Given the description of an element on the screen output the (x, y) to click on. 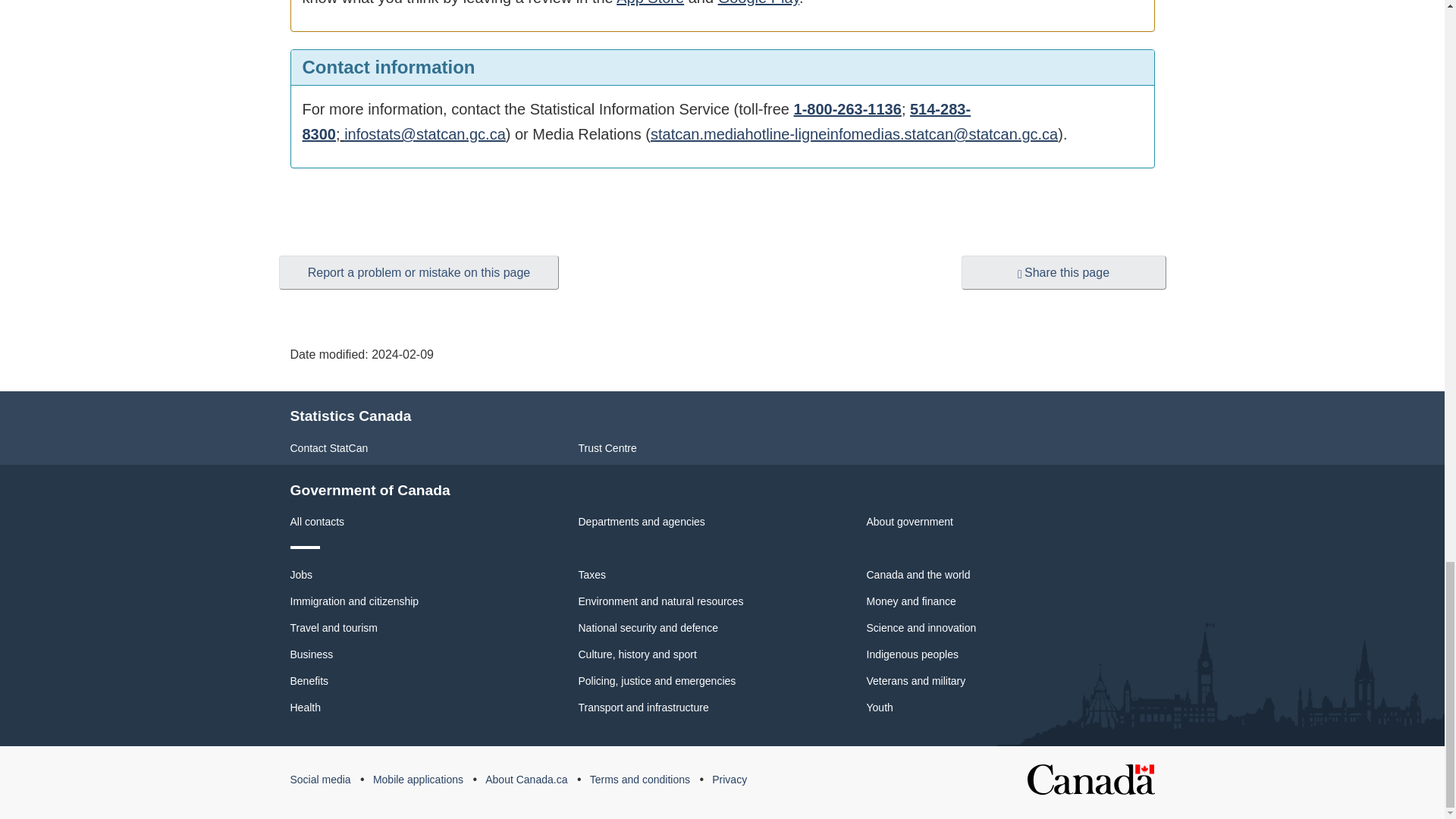
StatsCAN - Apps on Google Play (758, 2)
StatsCAN on the App store (649, 2)
